Given the description of an element on the screen output the (x, y) to click on. 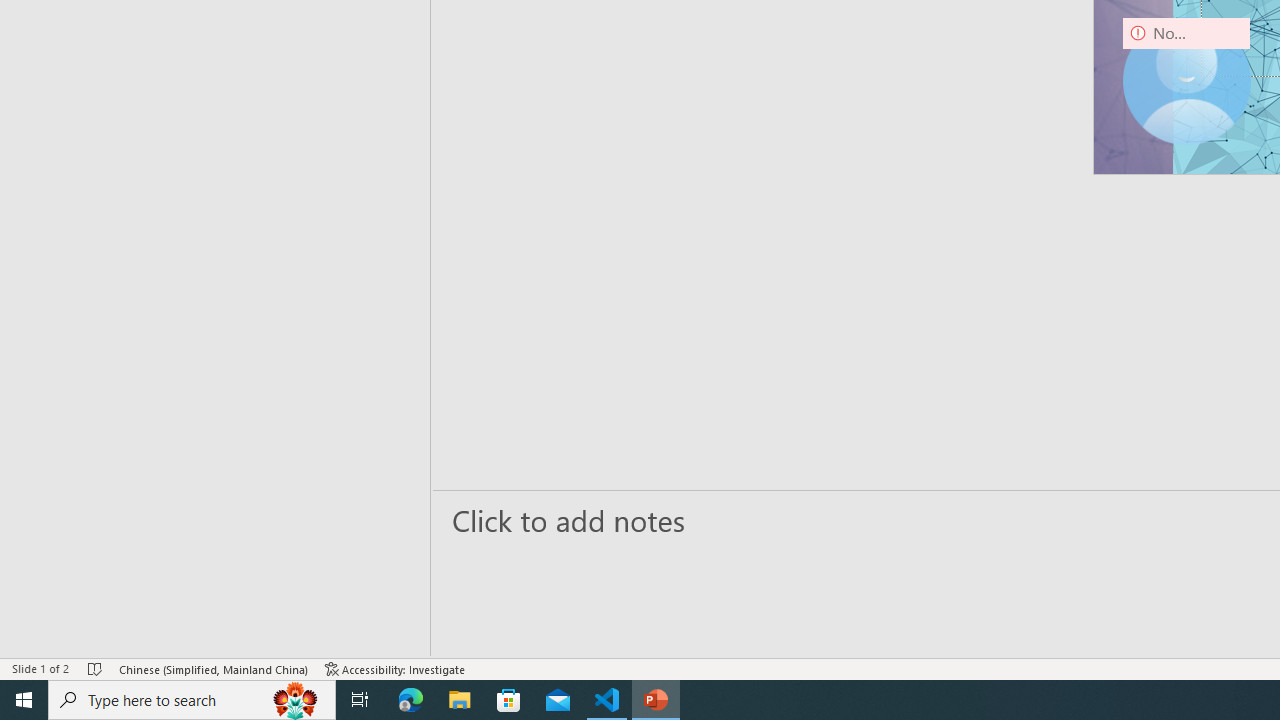
Camera 9, No camera detected. (1186, 80)
